Given the description of an element on the screen output the (x, y) to click on. 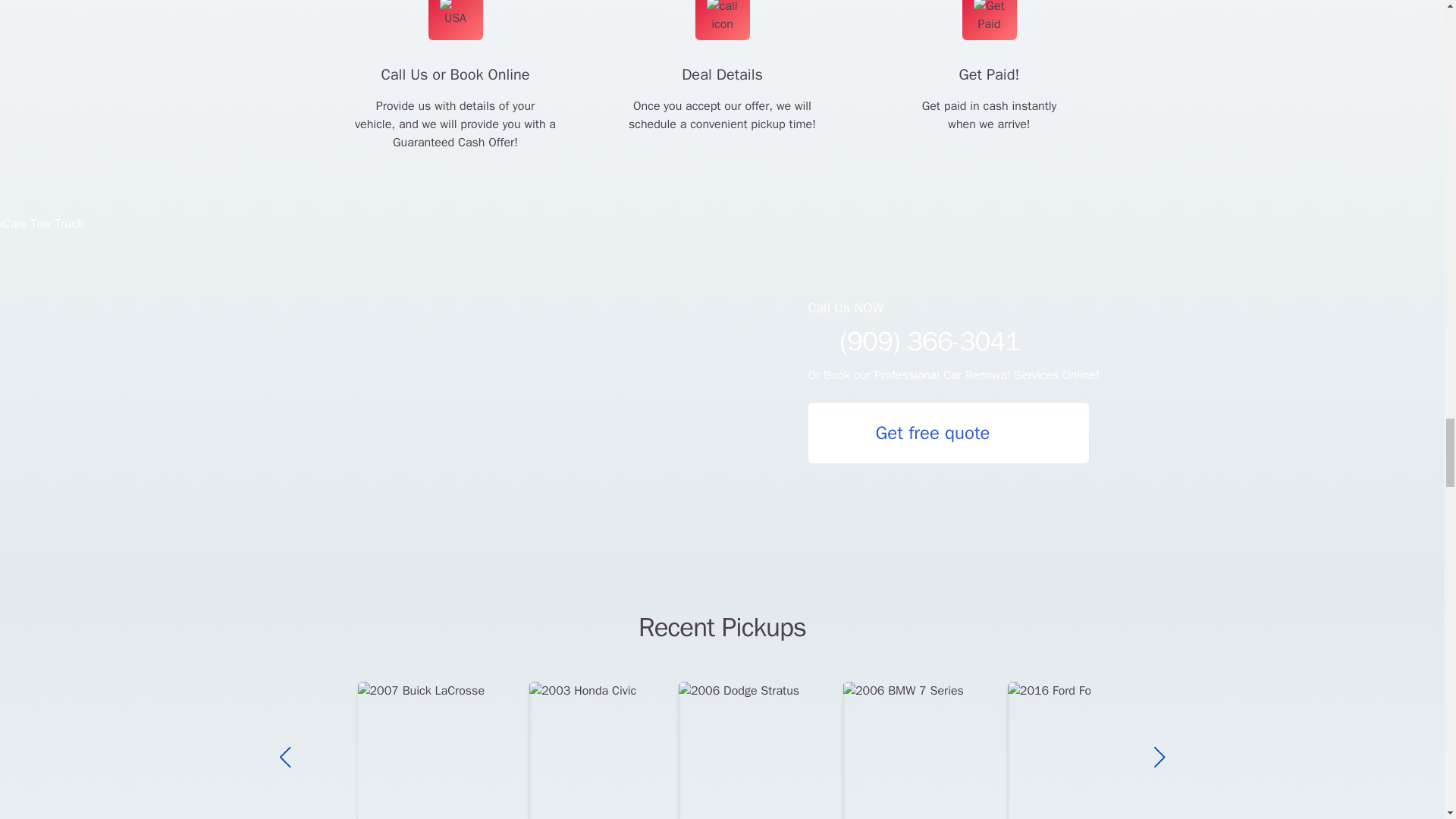
2016 Ford Focus (1079, 750)
2006 BMW 7 Series (925, 750)
2007 Buick LaCrosse (443, 750)
2006 Dodge Stratus (760, 750)
2003 Honda Civic (603, 750)
